Given the description of an element on the screen output the (x, y) to click on. 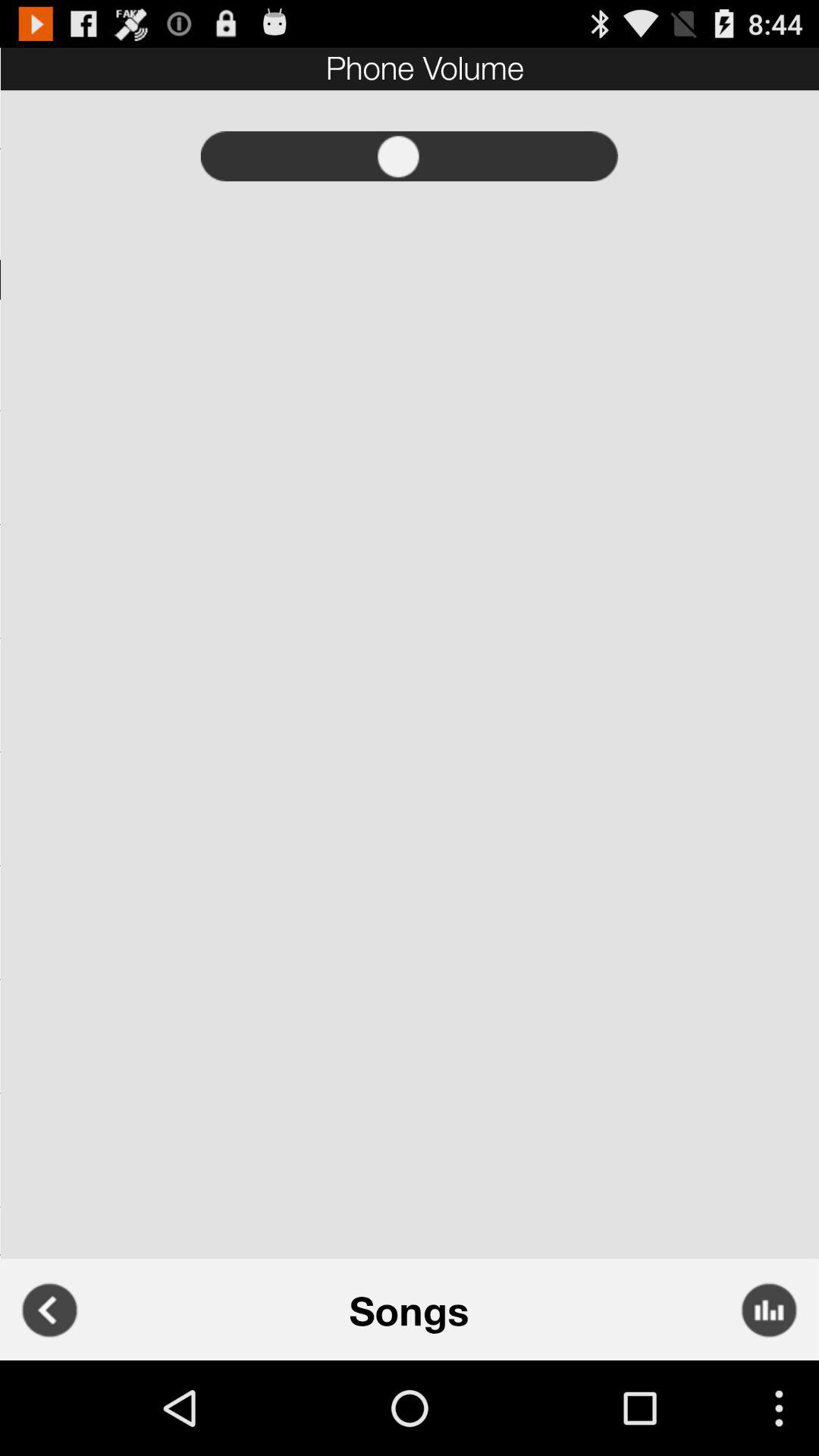
volume control (409, 156)
